Given the description of an element on the screen output the (x, y) to click on. 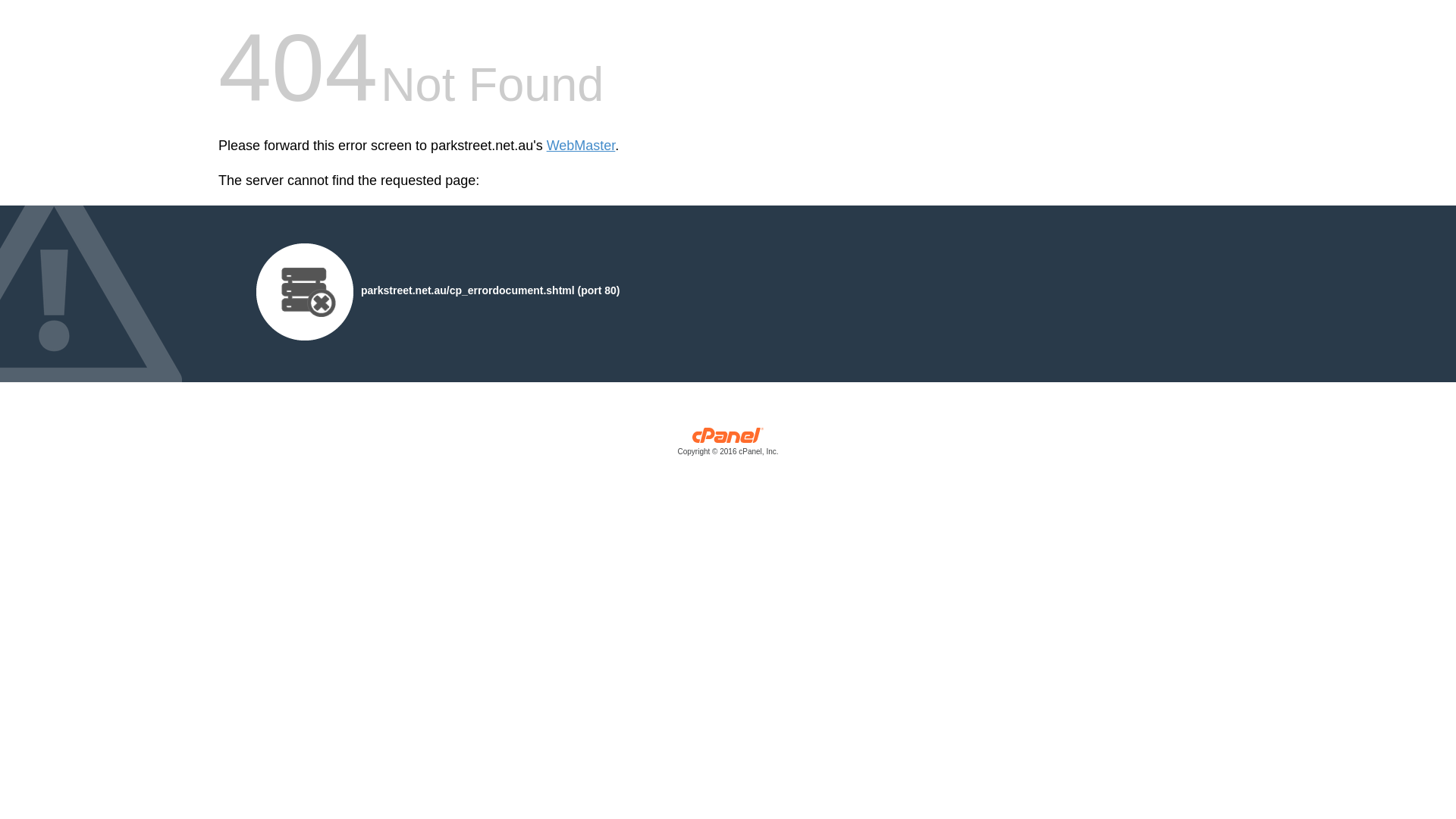
WebMaster Element type: text (580, 145)
